Given the description of an element on the screen output the (x, y) to click on. 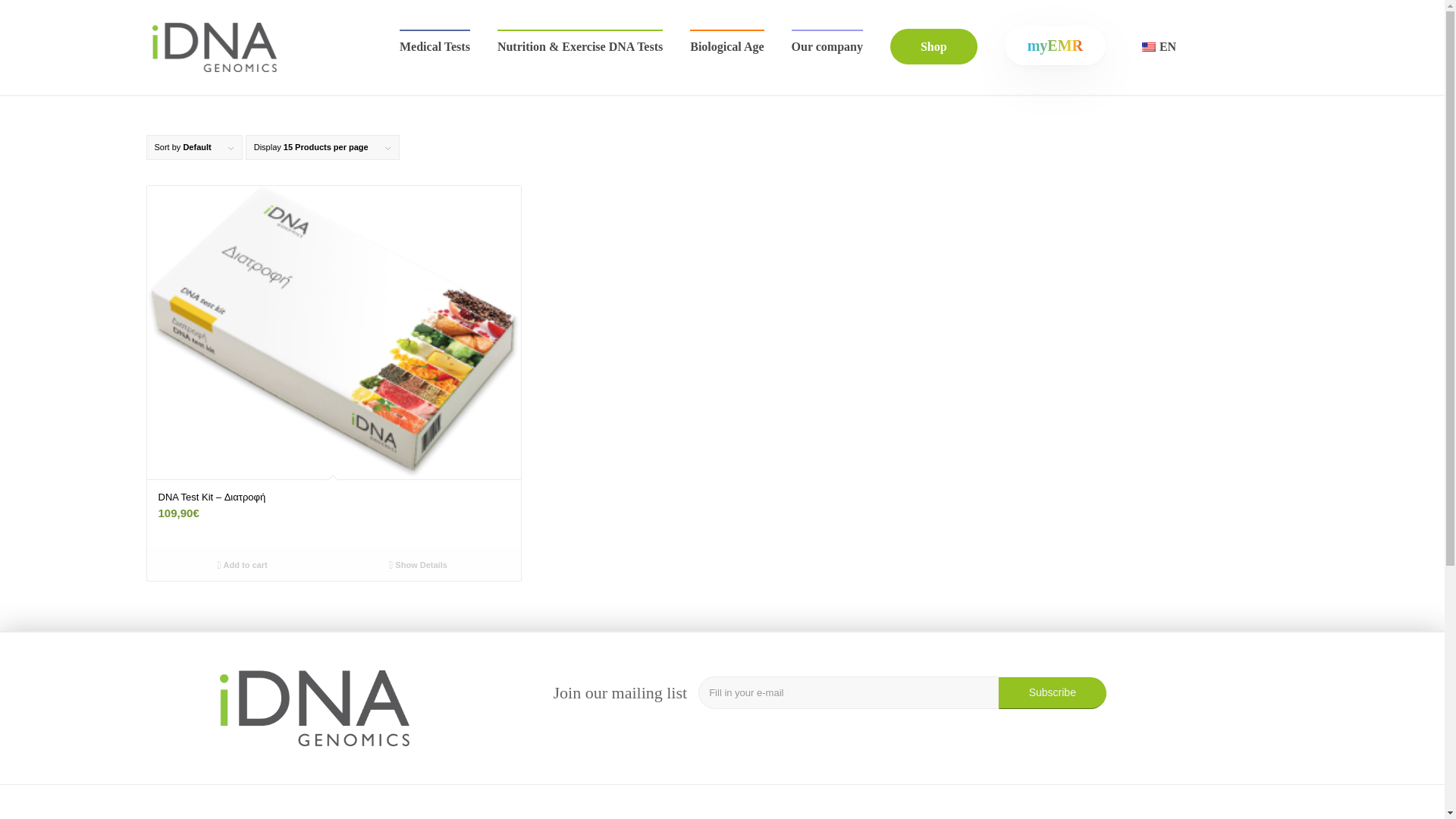
Our company (826, 47)
Subscribe (1052, 693)
myEMR (1054, 47)
Biological Age (726, 47)
Shop (933, 47)
English (1148, 46)
Medical Tests (435, 47)
